Given the description of an element on the screen output the (x, y) to click on. 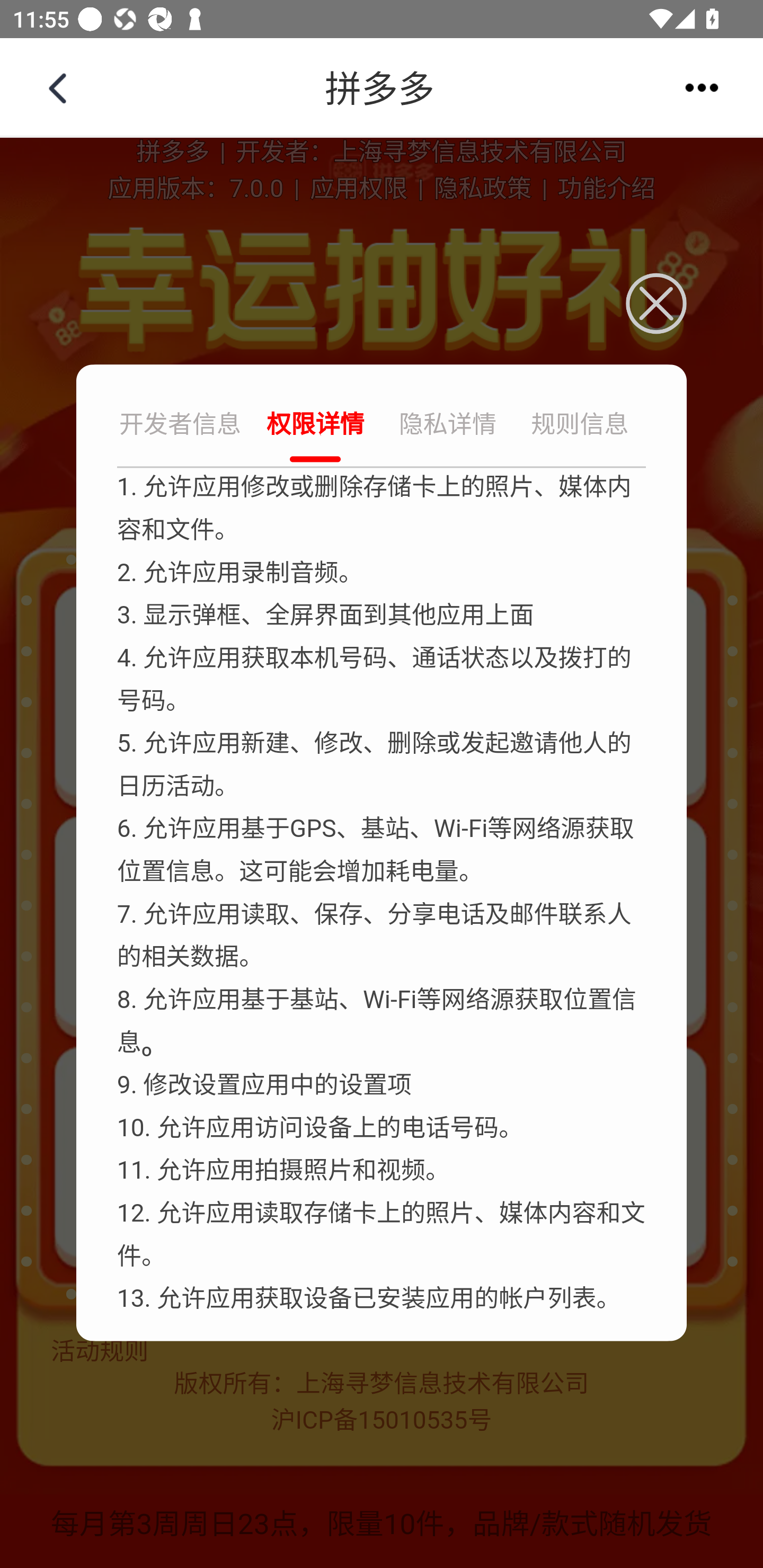
更多 (701, 86)
开发者信息  (182, 425)
权限详情 (315, 425)
隐私详情 (448, 425)
规则信息 (580, 425)
